Given the description of an element on the screen output the (x, y) to click on. 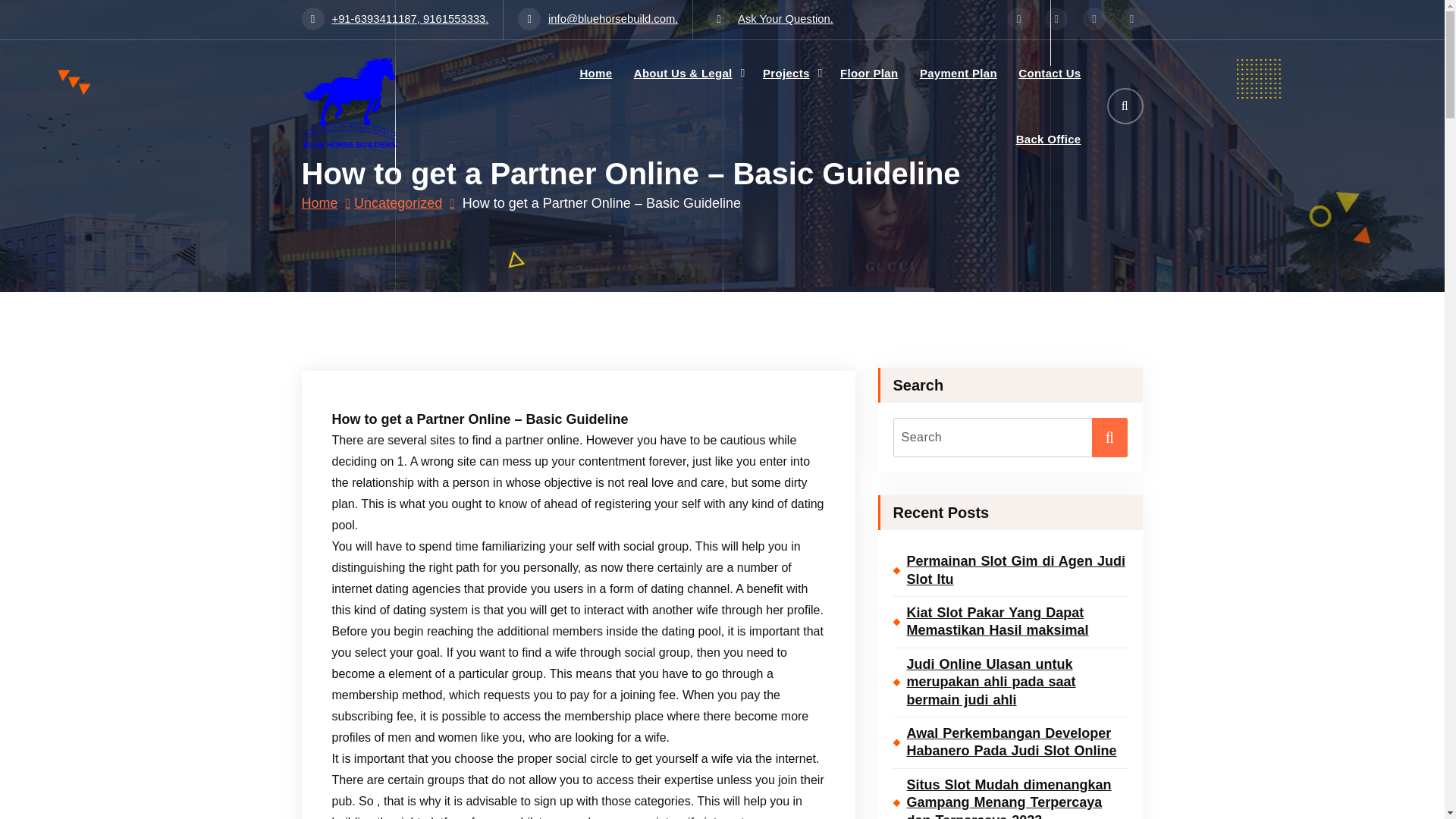
Ask Your Question. (769, 19)
